Given the description of an element on the screen output the (x, y) to click on. 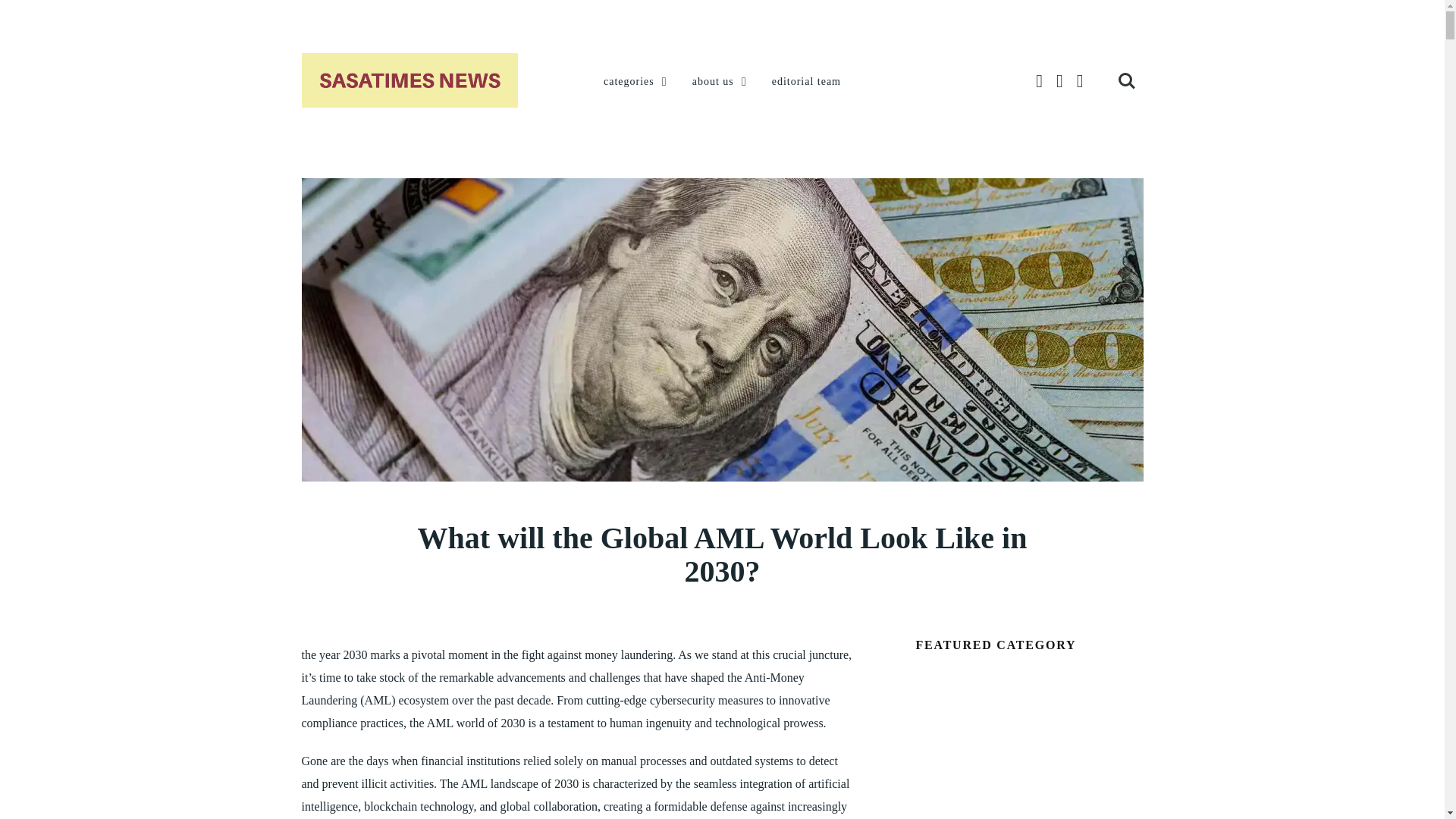
Facebook (1038, 81)
editorial team (806, 81)
about us (721, 81)
categories (636, 81)
Instagram (1080, 81)
Twitter (1059, 81)
